Given the description of an element on the screen output the (x, y) to click on. 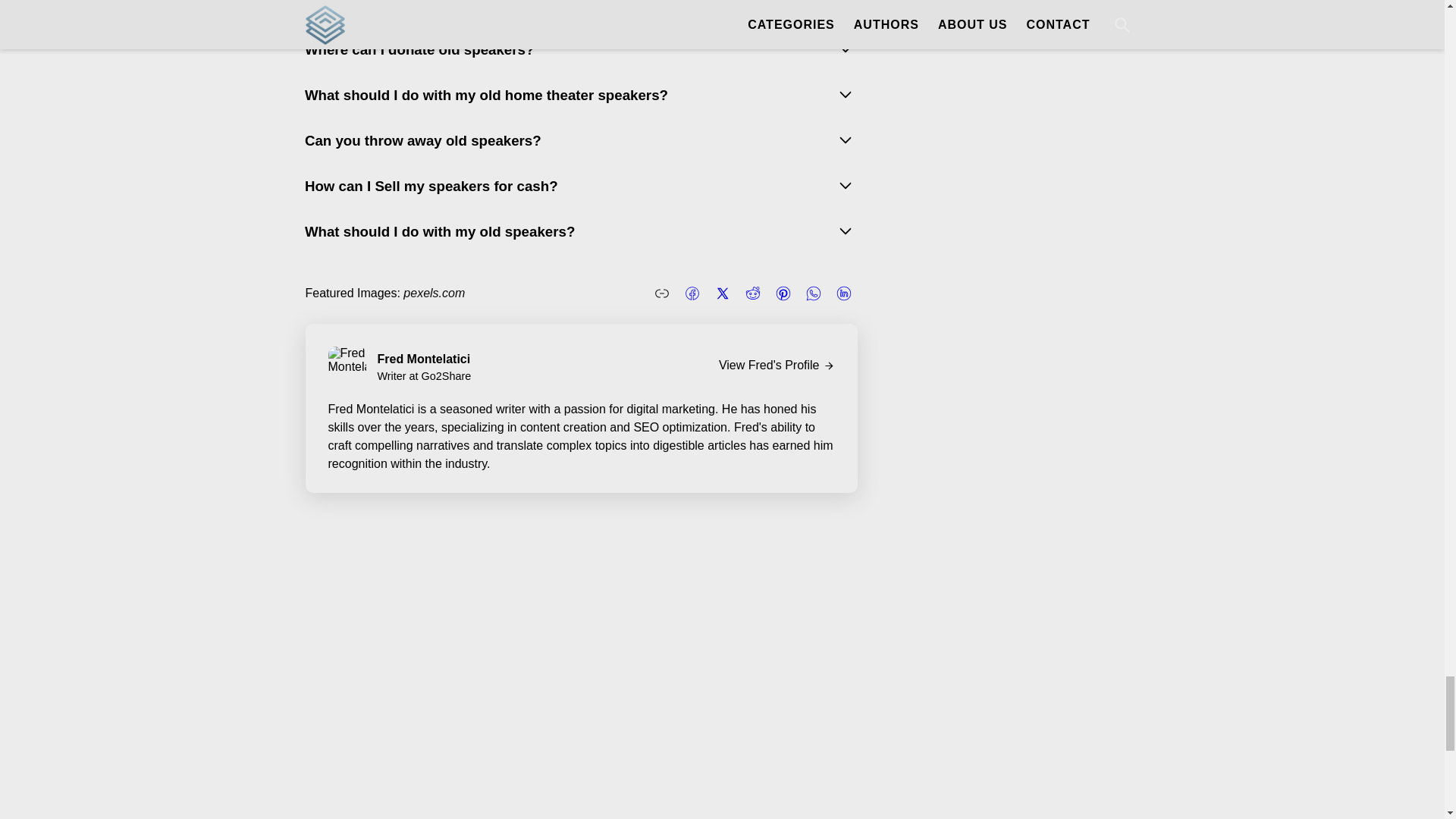
View Fred's Profile (776, 365)
pexels.com (433, 292)
